Given the description of an element on the screen output the (x, y) to click on. 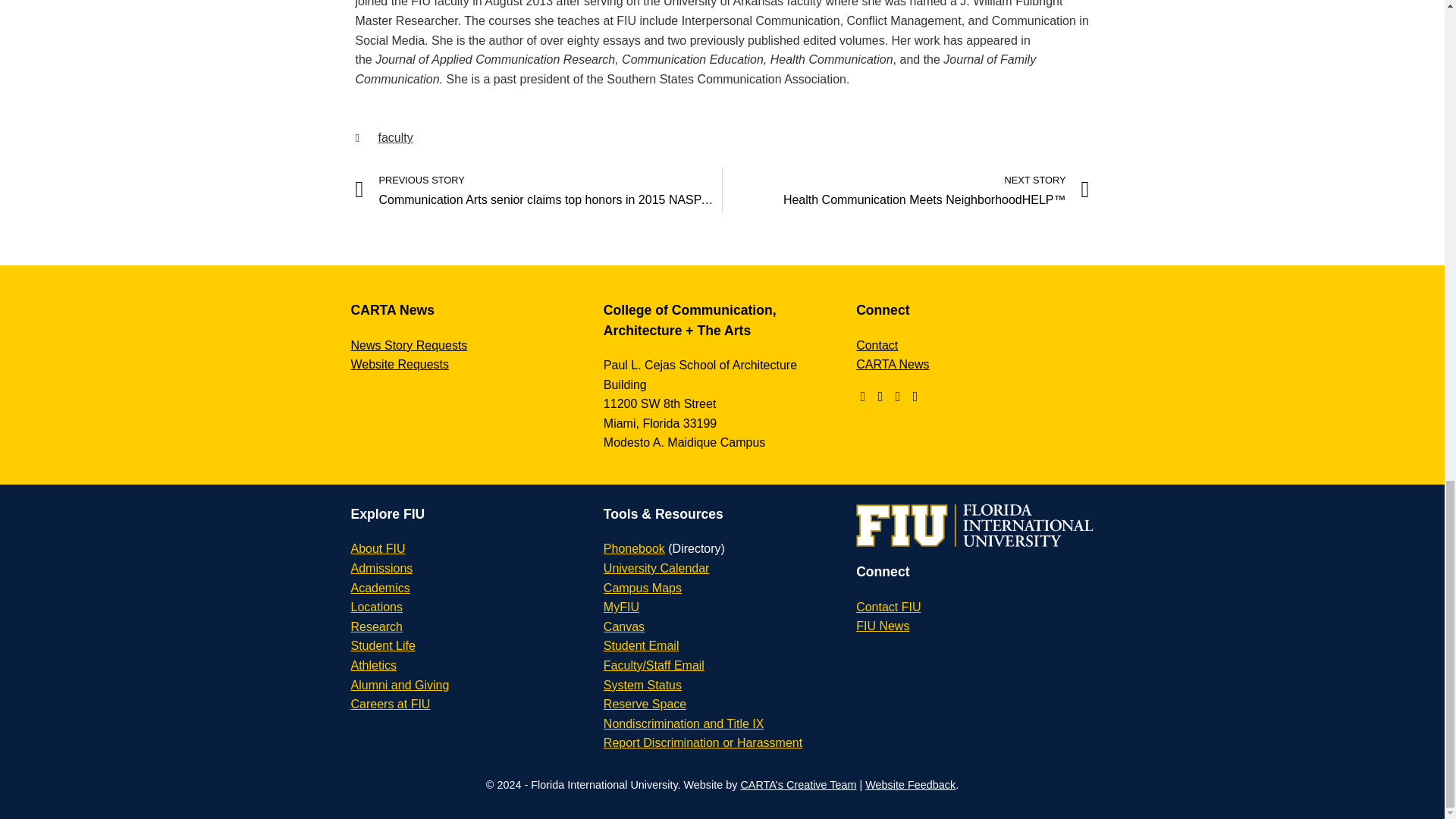
faculty (394, 137)
